Given the description of an element on the screen output the (x, y) to click on. 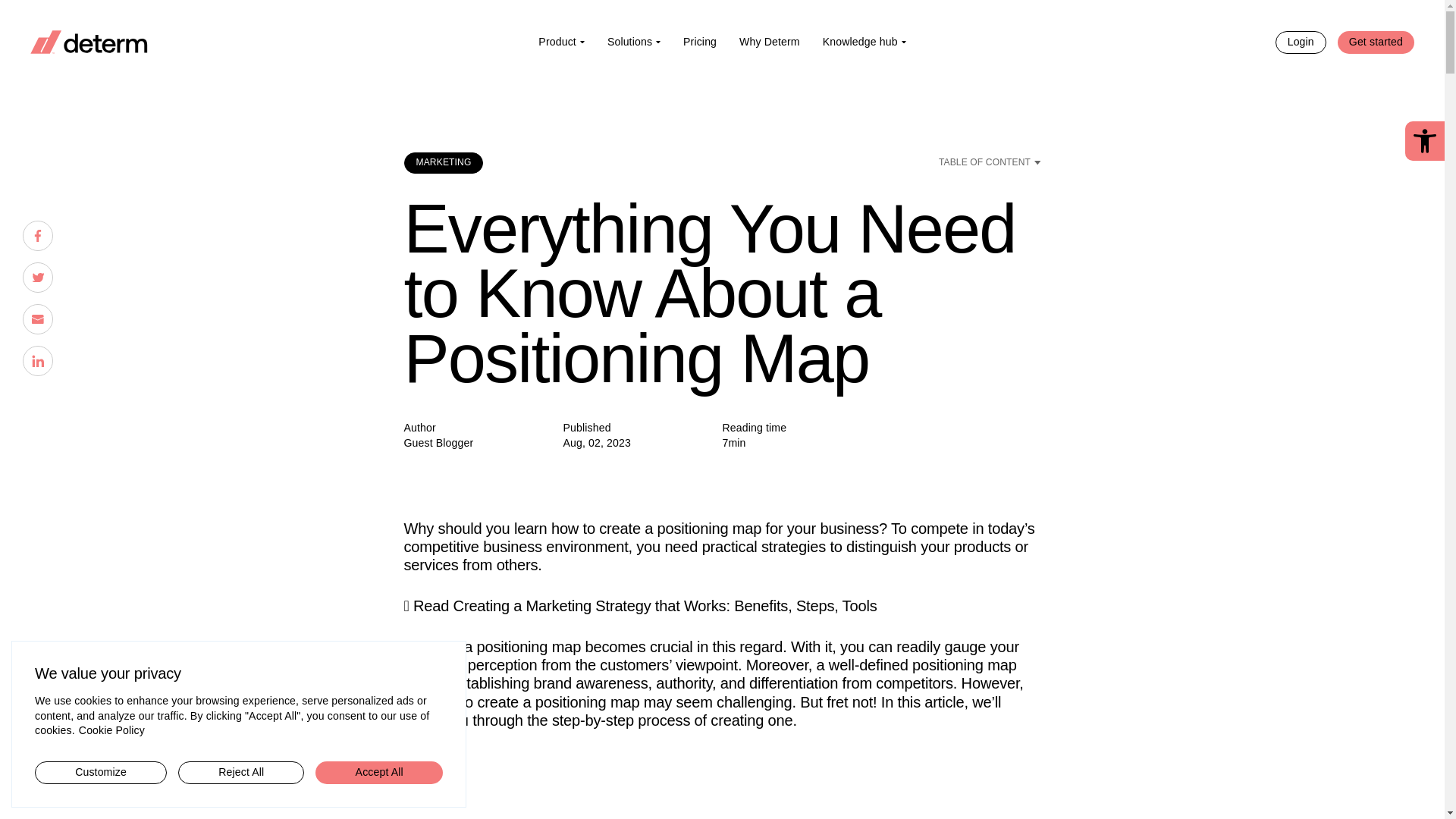
Cookie Policy (111, 730)
Solutions (633, 41)
Customize (100, 772)
Accept All (378, 772)
Reject All (240, 772)
Product (561, 41)
